Given the description of an element on the screen output the (x, y) to click on. 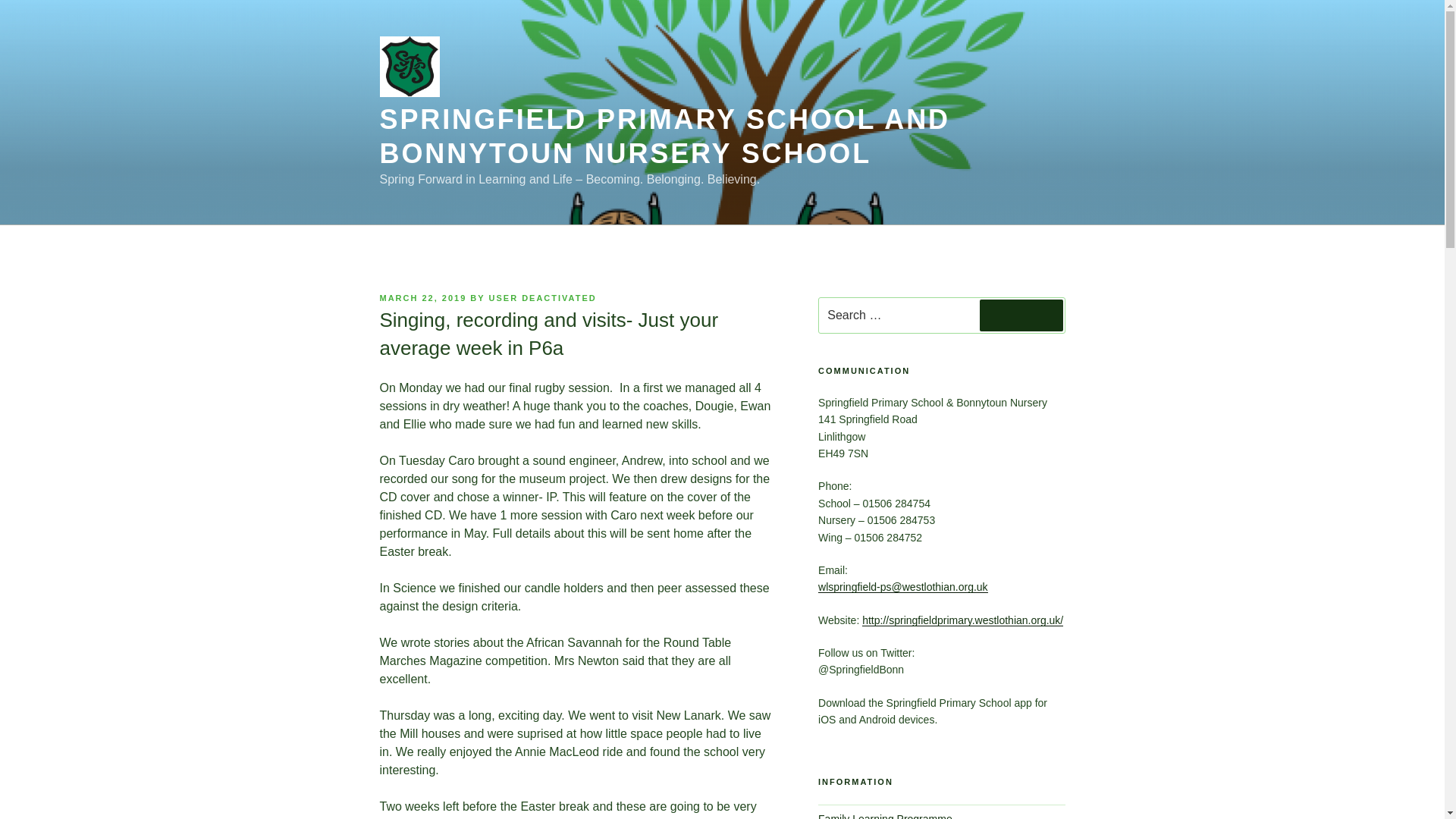
Family Learning Programme (885, 816)
Search (1020, 315)
USER DEACTIVATED (542, 297)
SPRINGFIELD PRIMARY SCHOOL AND BONNYTOUN NURSERY SCHOOL (663, 136)
MARCH 22, 2019 (421, 297)
